Given the description of an element on the screen output the (x, y) to click on. 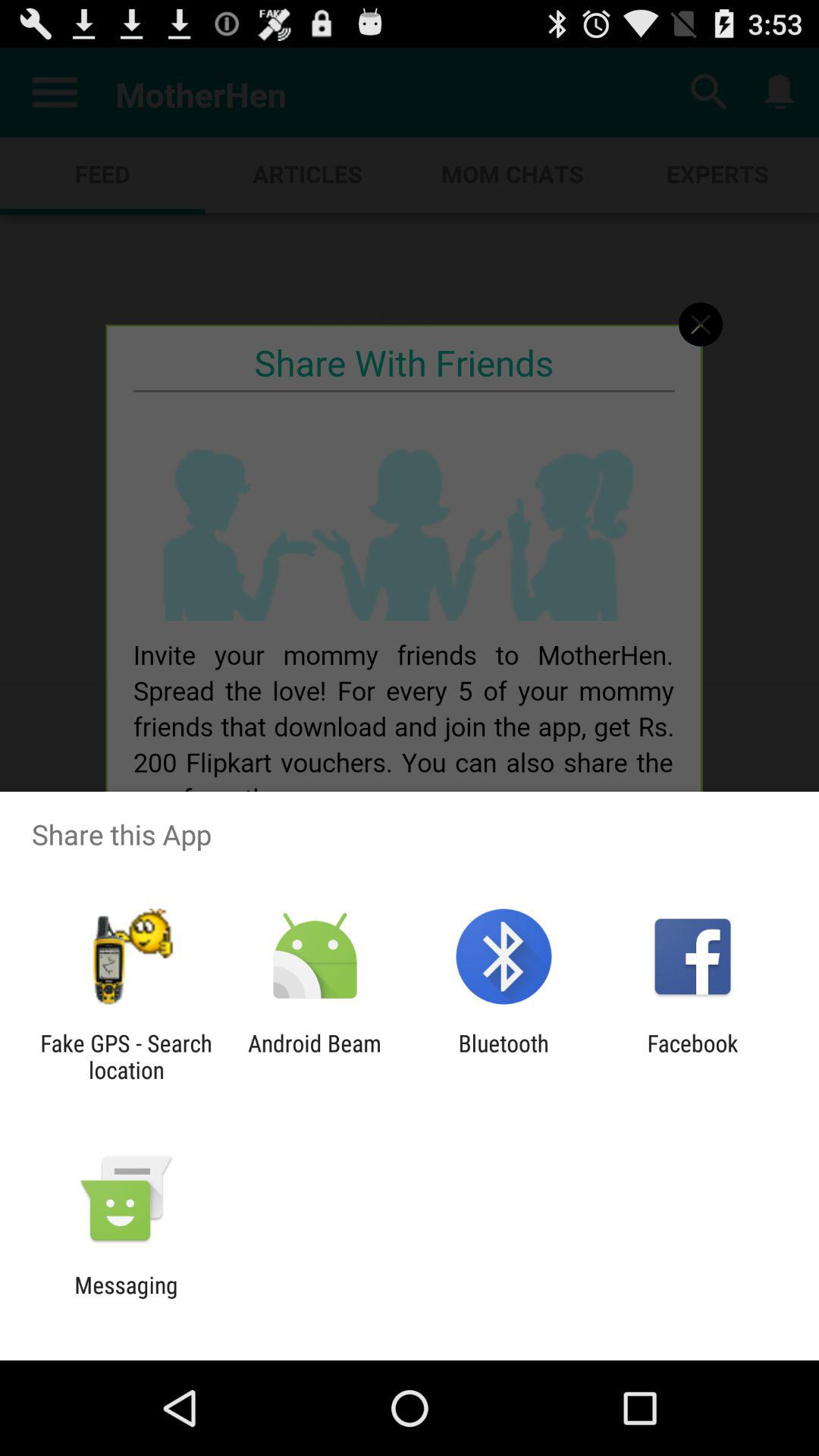
turn on the android beam app (314, 1056)
